Given the description of an element on the screen output the (x, y) to click on. 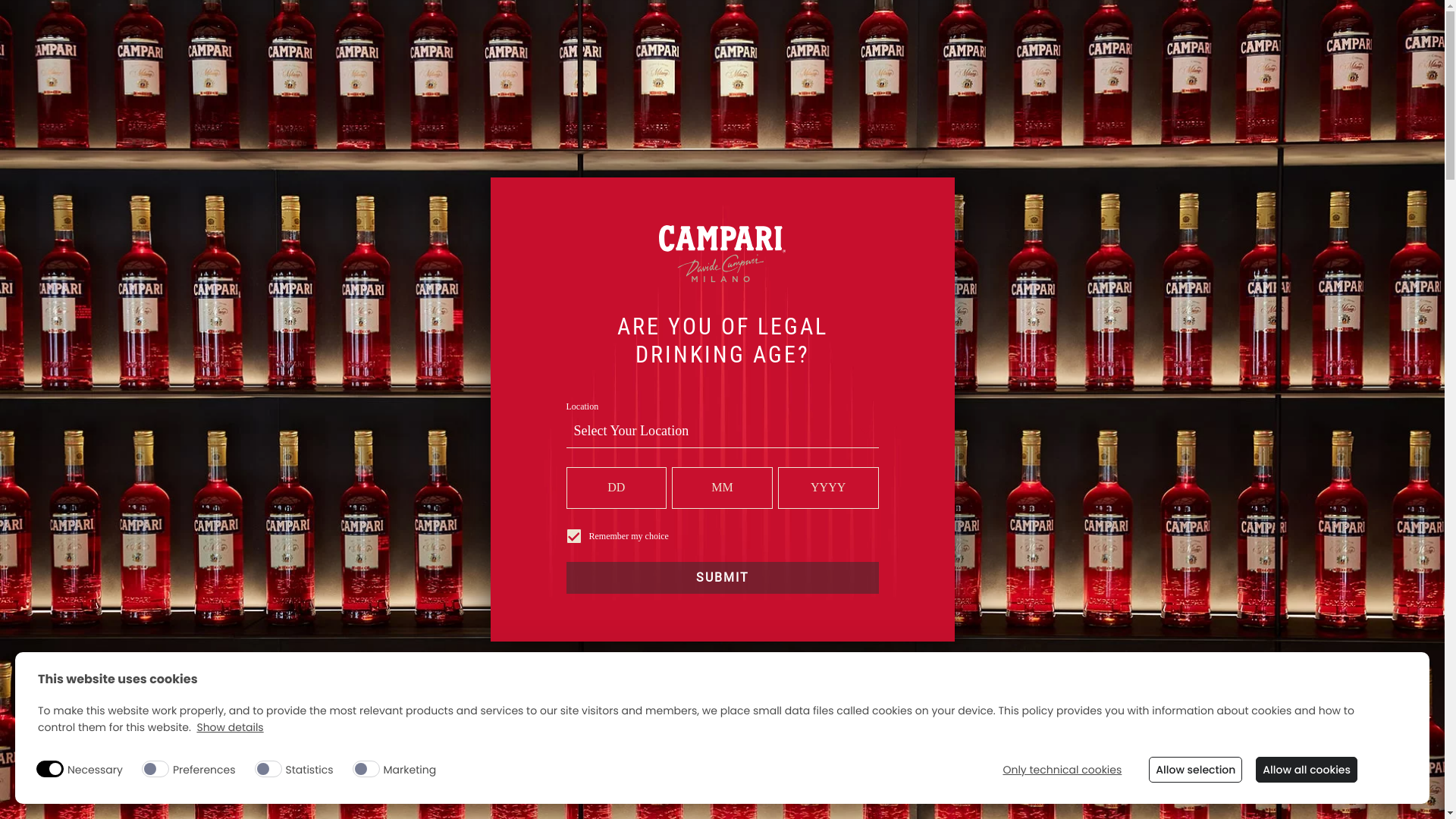
CAMPARINO Element type: text (647, 55)
SUBMIT Element type: text (721, 577)
CAMPARI SPRITZ Element type: text (457, 55)
CAMPARI Element type: text (385, 55)
NEGRONI SBAGLIATO Element type: text (602, 55)
JETZT KAUFEN Element type: text (1255, 15)
CAMPARI SODA Element type: text (800, 55)
CAMPARI & KINO Element type: text (728, 55)
NEGRONI Element type: text (347, 55)
UNSERE COCKTAILS Element type: text (1045, 55)
UNSERE GESCHICHTE Element type: text (346, 52)
UNSERE PRODUKTE Element type: text (522, 52)
RED PASSION Element type: text (606, 55)
UNSERE PRODUKTE Element type: text (1009, 55)
UNSERE COCKTAILS Element type: text (702, 52)
Allow selection Element type: text (1195, 769)
CAMPARI CASK TALES Element type: text (510, 55)
BERLINALE Element type: text (844, 55)
Only technical cookies Element type: text (1061, 769)
Show details Element type: text (229, 727)
GALLERIA CAMPARI Element type: text (774, 55)
Allow all cookies Element type: text (1306, 769)
BESUCHEN SIE UNS Element type: text (1094, 52)
DIE WELT VON CAMPARI Element type: text (899, 52)
CAMPARI NEGRONI Element type: text (664, 55)
WEITERE CAMPARI-COCKTAILS Element type: text (789, 55)
